Given the description of an element on the screen output the (x, y) to click on. 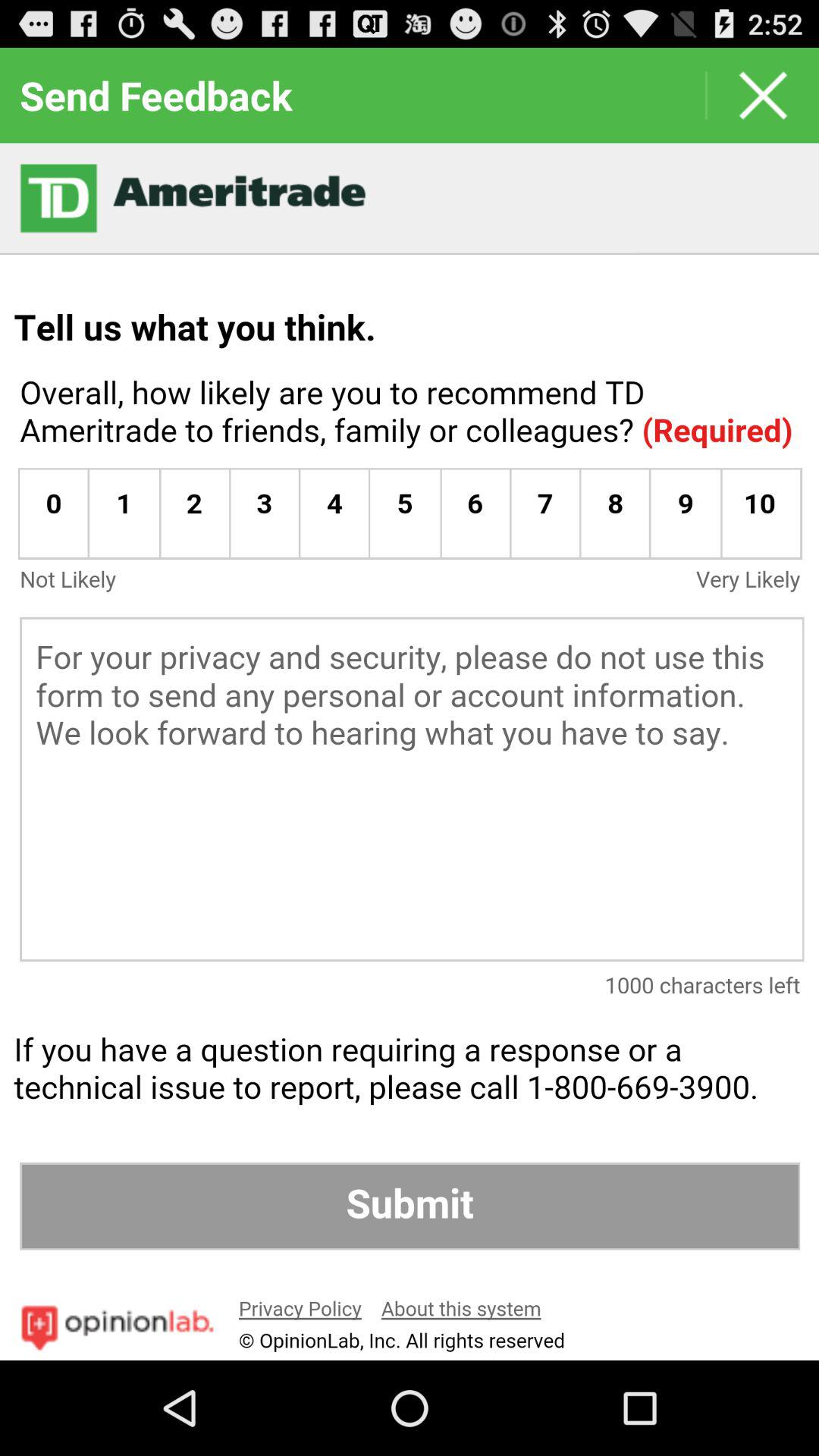
the button is used to close the page (763, 95)
